Given the description of an element on the screen output the (x, y) to click on. 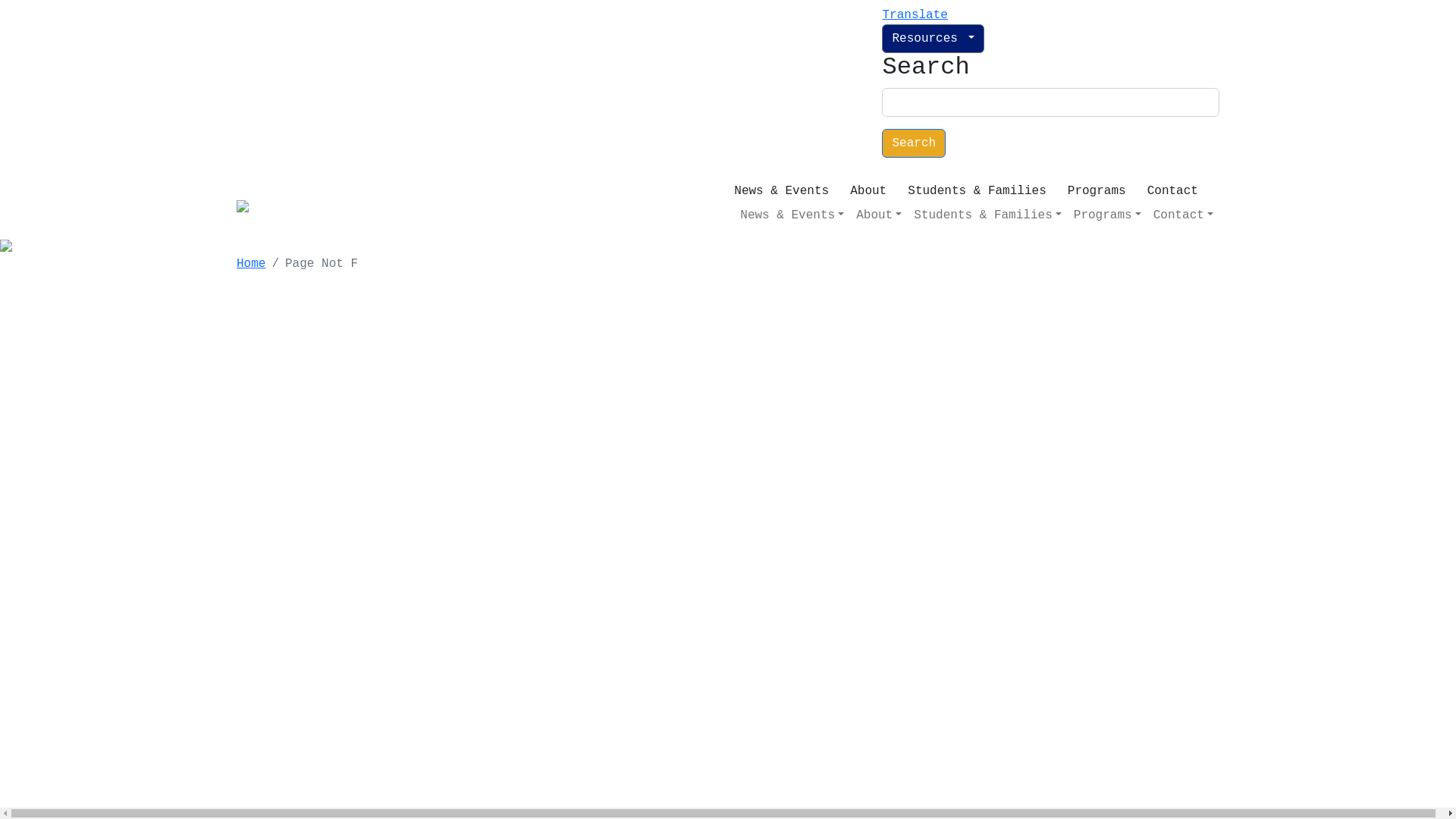
Translate Element type: text (914, 14)
Resources Element type: text (932, 38)
Home Element type: text (250, 263)
Enter the terms you wish to search for. Element type: hover (1050, 101)
Search Element type: text (913, 142)
